Given the description of an element on the screen output the (x, y) to click on. 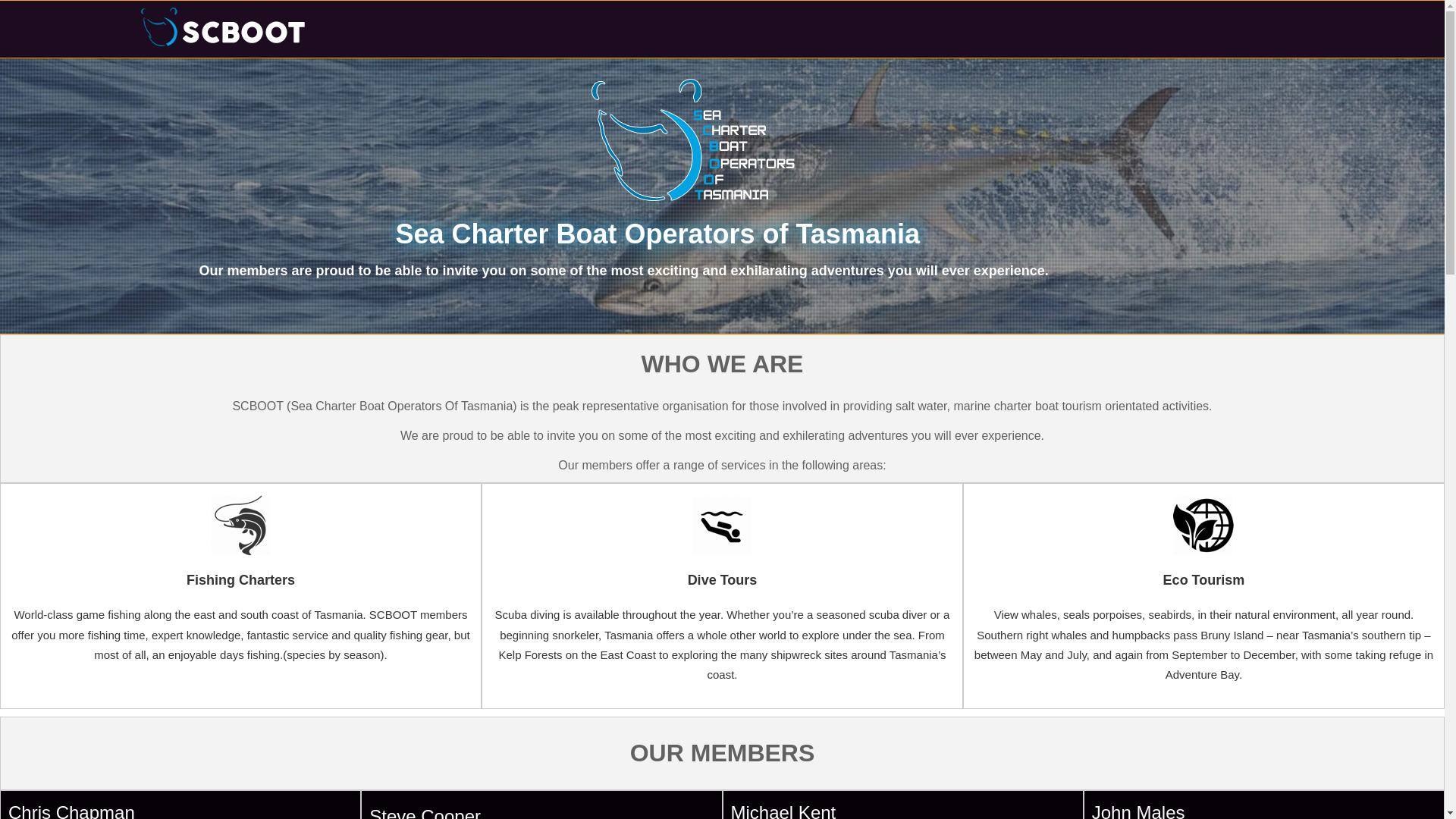
Sea Charter Boat Operators of Tasmania Element type: text (657, 233)
